Given the description of an element on the screen output the (x, y) to click on. 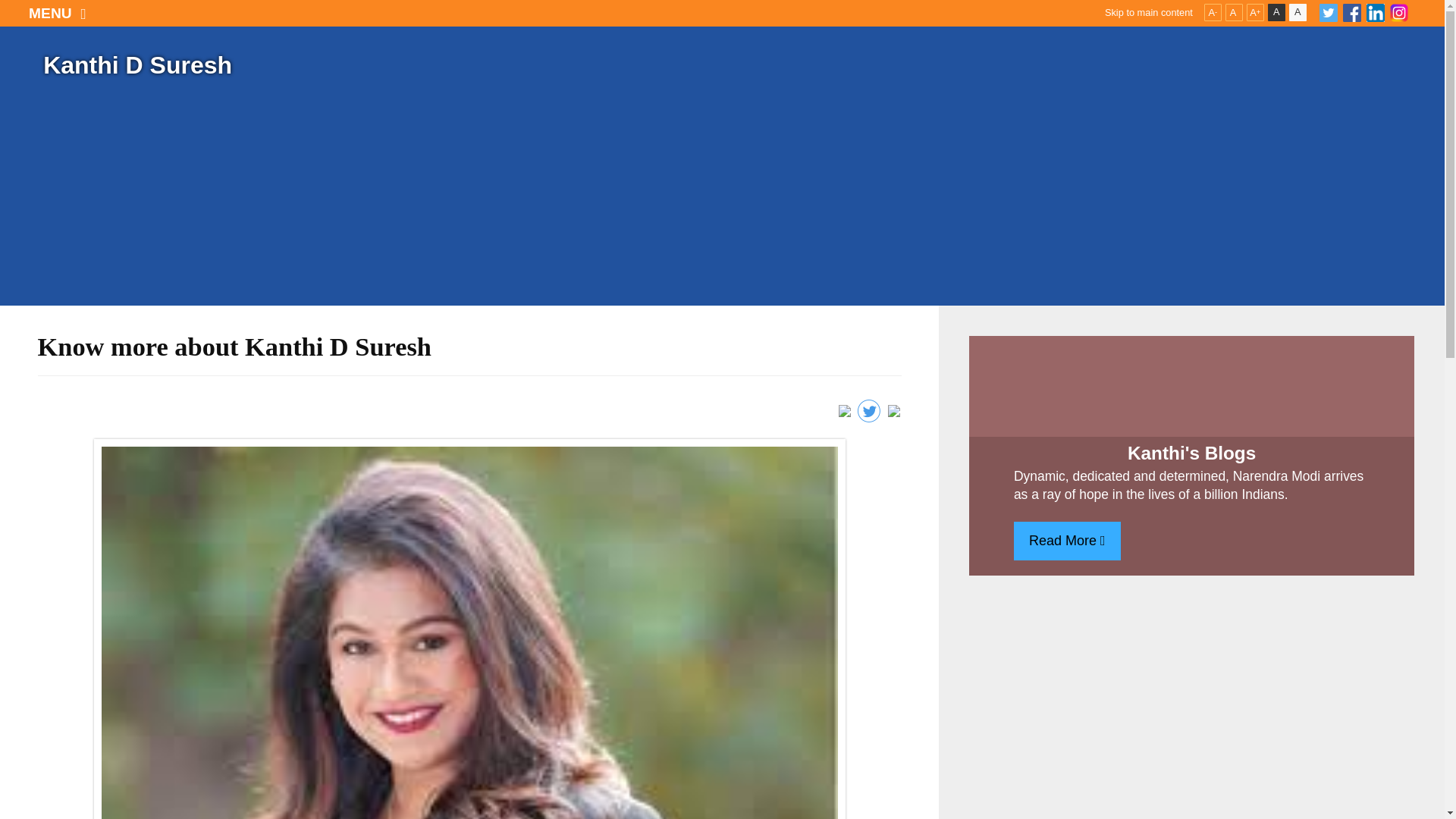
Decrease font size (1212, 12)
Increase font size (1254, 12)
A (1276, 12)
PMO Youtube (1375, 13)
Menu (57, 12)
Dark (1276, 12)
Light (1297, 12)
PMO twitter (1328, 13)
PMO facebook (1351, 13)
PMO narendramodi (1398, 13)
A- (1212, 12)
A  (1234, 12)
MENU (57, 12)
Skip to main content (1148, 13)
